Given the description of an element on the screen output the (x, y) to click on. 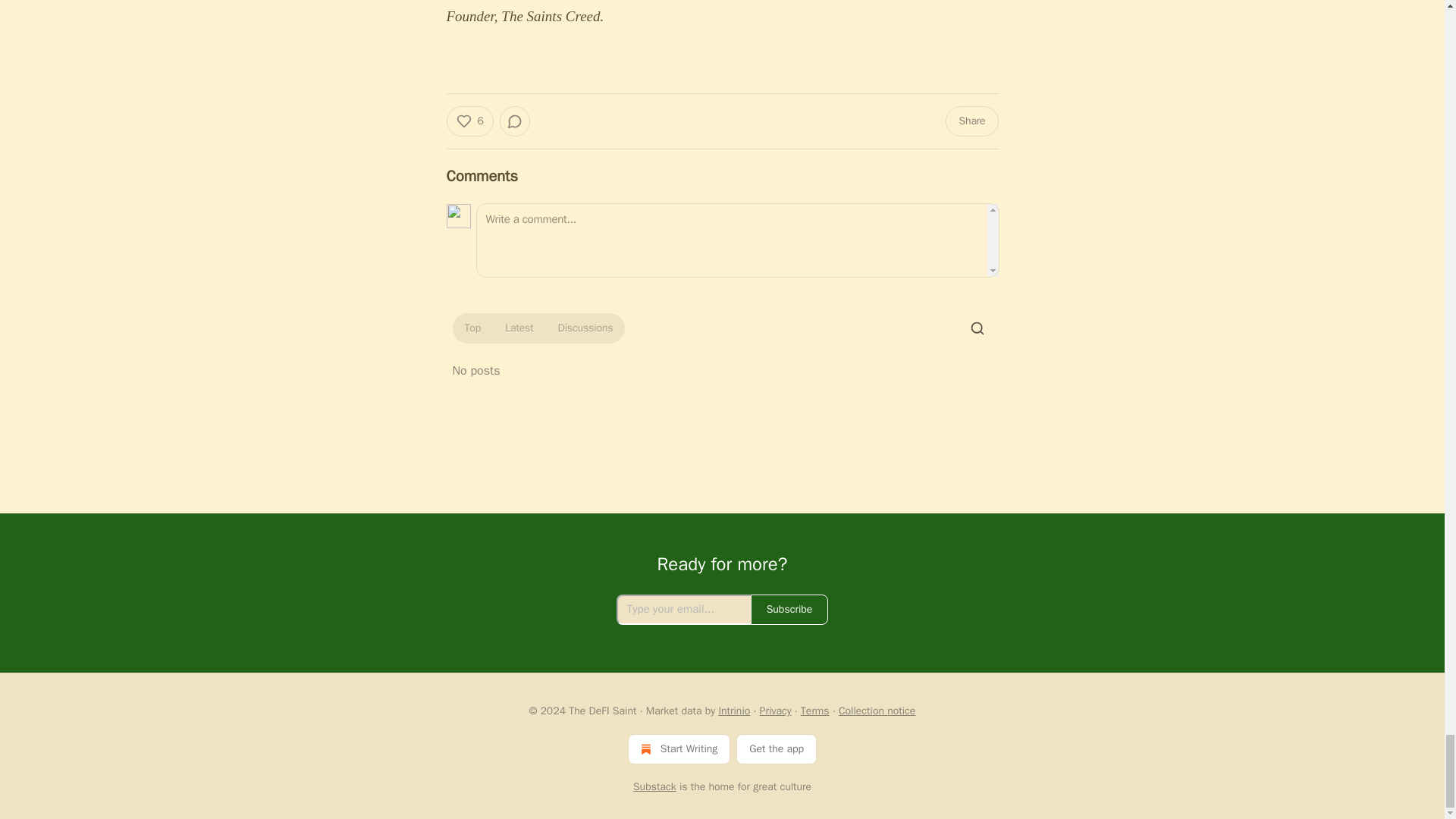
6 (469, 121)
